Given the description of an element on the screen output the (x, y) to click on. 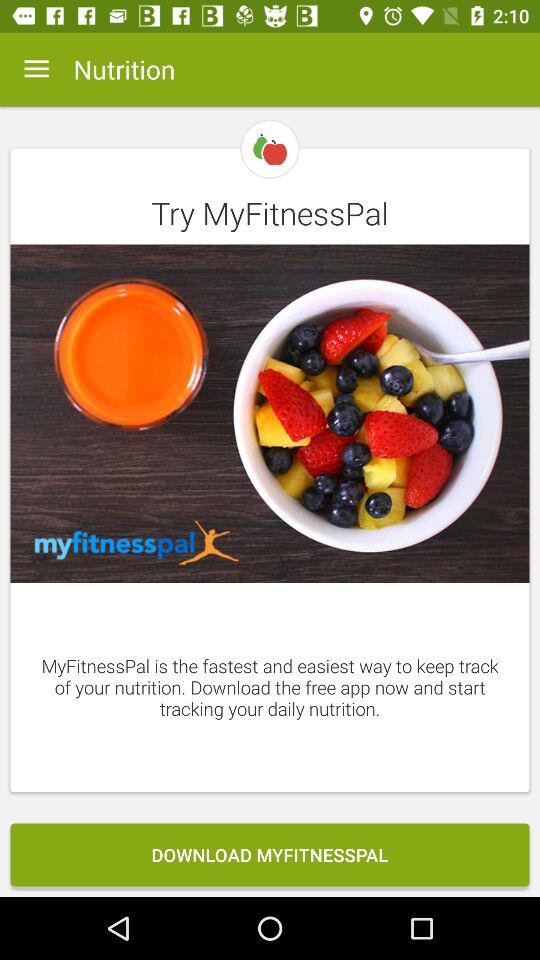
turn on icon at the top left corner (36, 69)
